Given the description of an element on the screen output the (x, y) to click on. 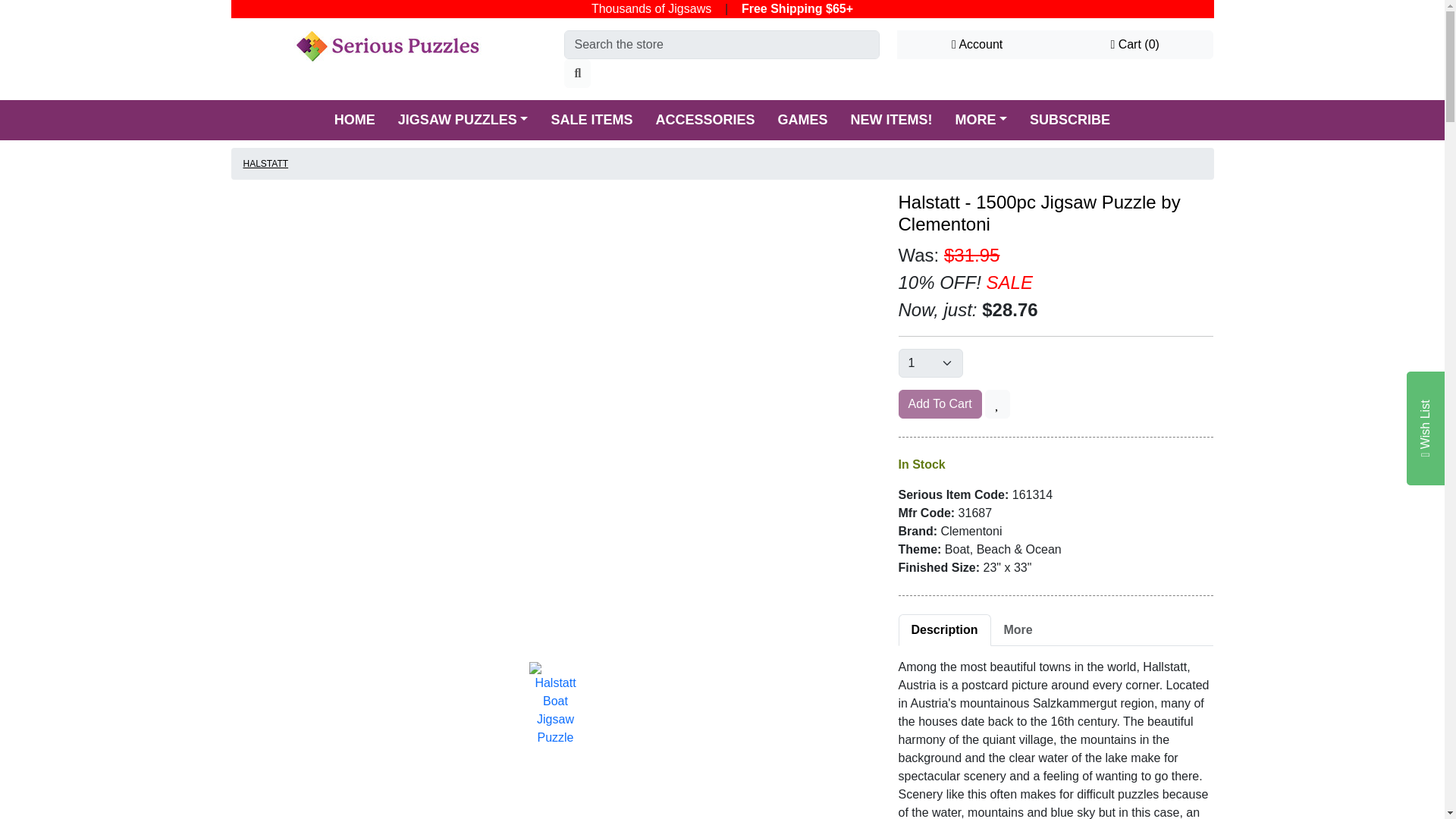
SALE ITEMS (590, 119)
SUBSCRIBE (1069, 119)
Description (944, 630)
MORE (981, 119)
GAMES (803, 119)
ACCESSORIES (704, 119)
HALSTATT (265, 163)
Quantity (930, 362)
Account (976, 44)
More (1018, 630)
